Given the description of an element on the screen output the (x, y) to click on. 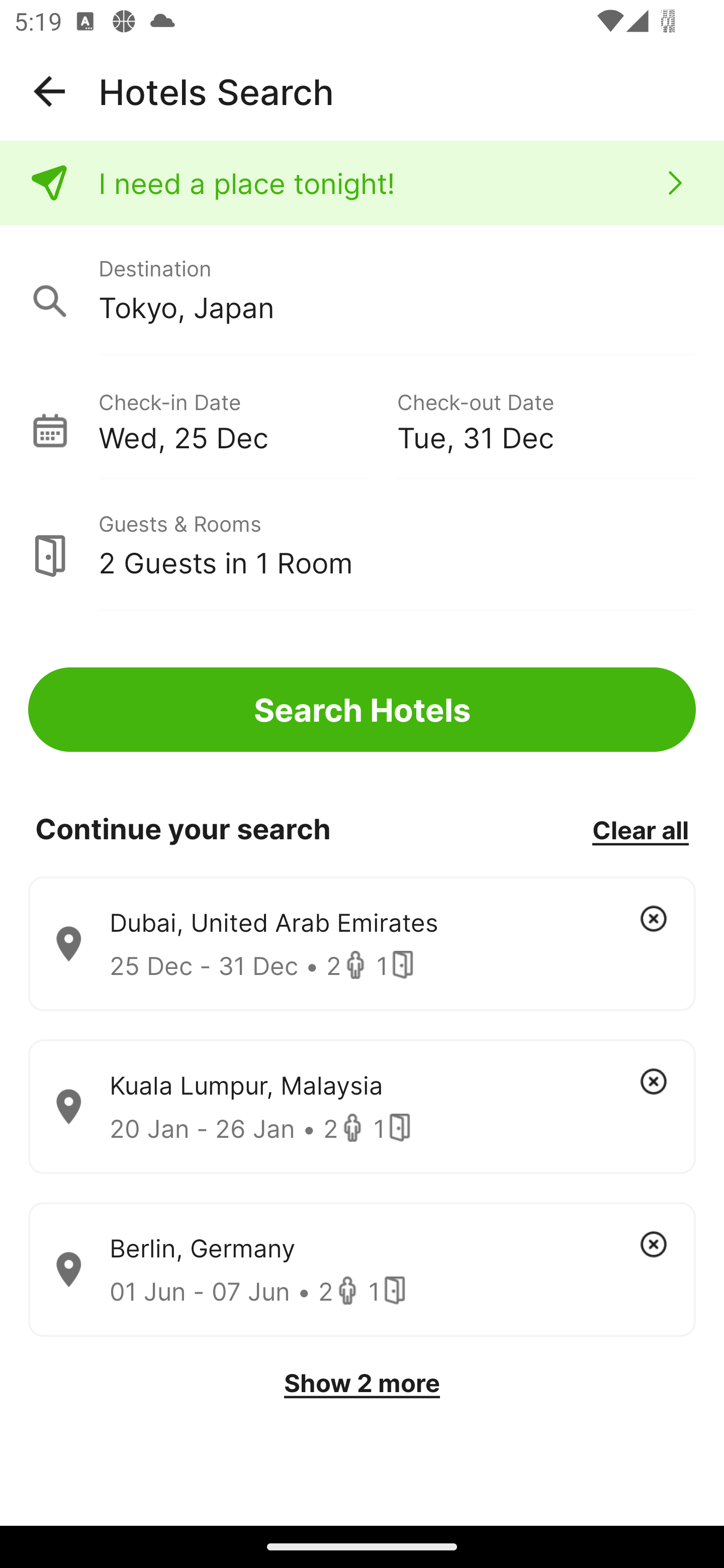
I need a place tonight! (362, 183)
Destination Tokyo, Japan (362, 290)
Check-in Date Wed, 25 Dec (247, 418)
Check-out Date Tue, 31 Dec (546, 418)
Guests & Rooms 2 Guests in 1 Room (362, 545)
Search Hotels (361, 709)
Clear all (640, 829)
Kuala Lumpur, Malaysia 20 Jan - 26 Jan • 2  1  (361, 1106)
Berlin, Germany 01 Jun - 07 Jun • 2  1  (361, 1269)
Show 2 more (362, 1382)
